Given the description of an element on the screen output the (x, y) to click on. 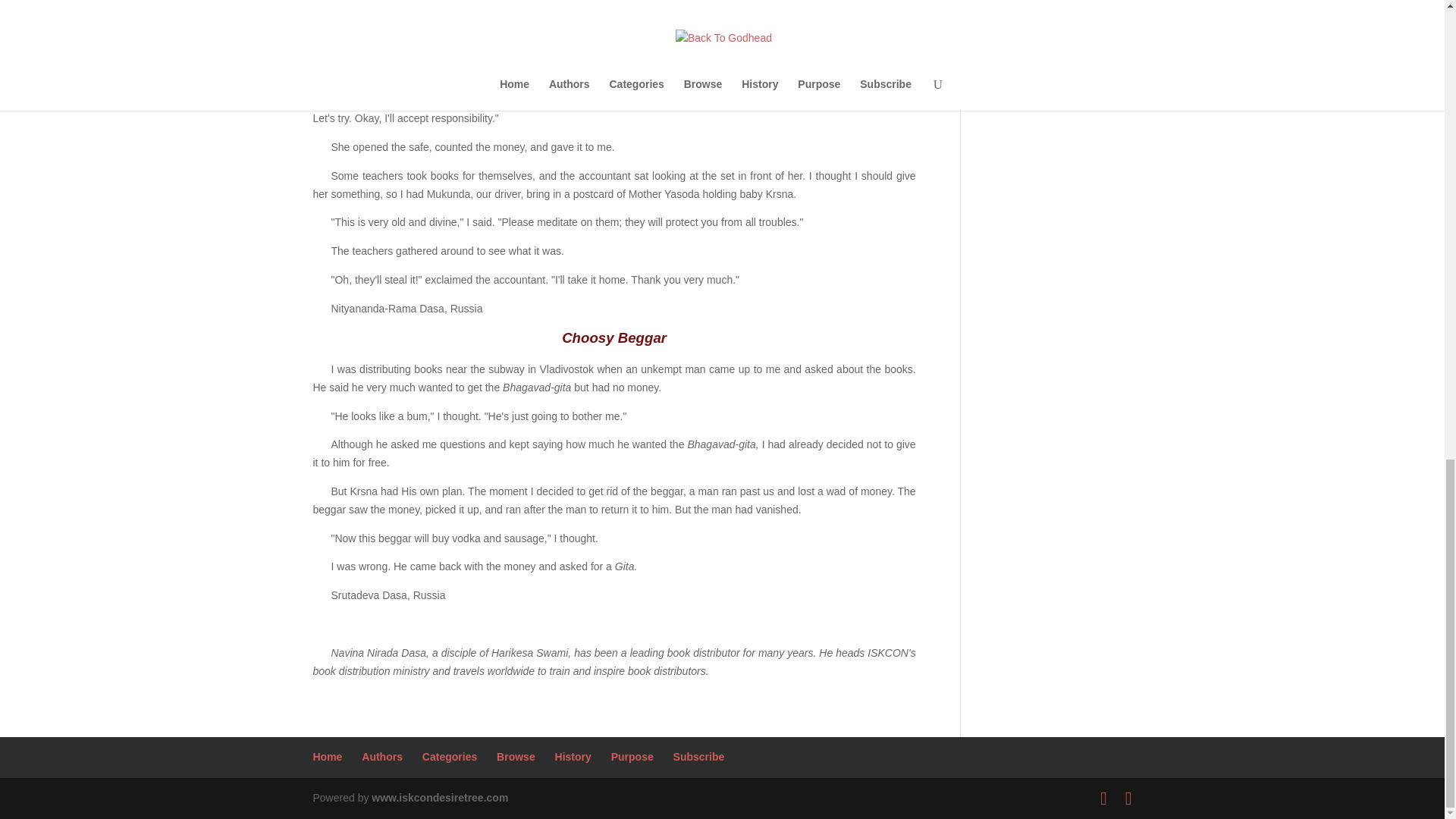
Purpose (632, 756)
Browse (515, 756)
Subscribe (698, 756)
Categories (449, 756)
Browse (515, 756)
Home (327, 756)
www.iskcondesiretree.com (439, 797)
Authors (382, 756)
Categories (449, 756)
History (572, 756)
Home (327, 756)
Authors (382, 756)
